Given the description of an element on the screen output the (x, y) to click on. 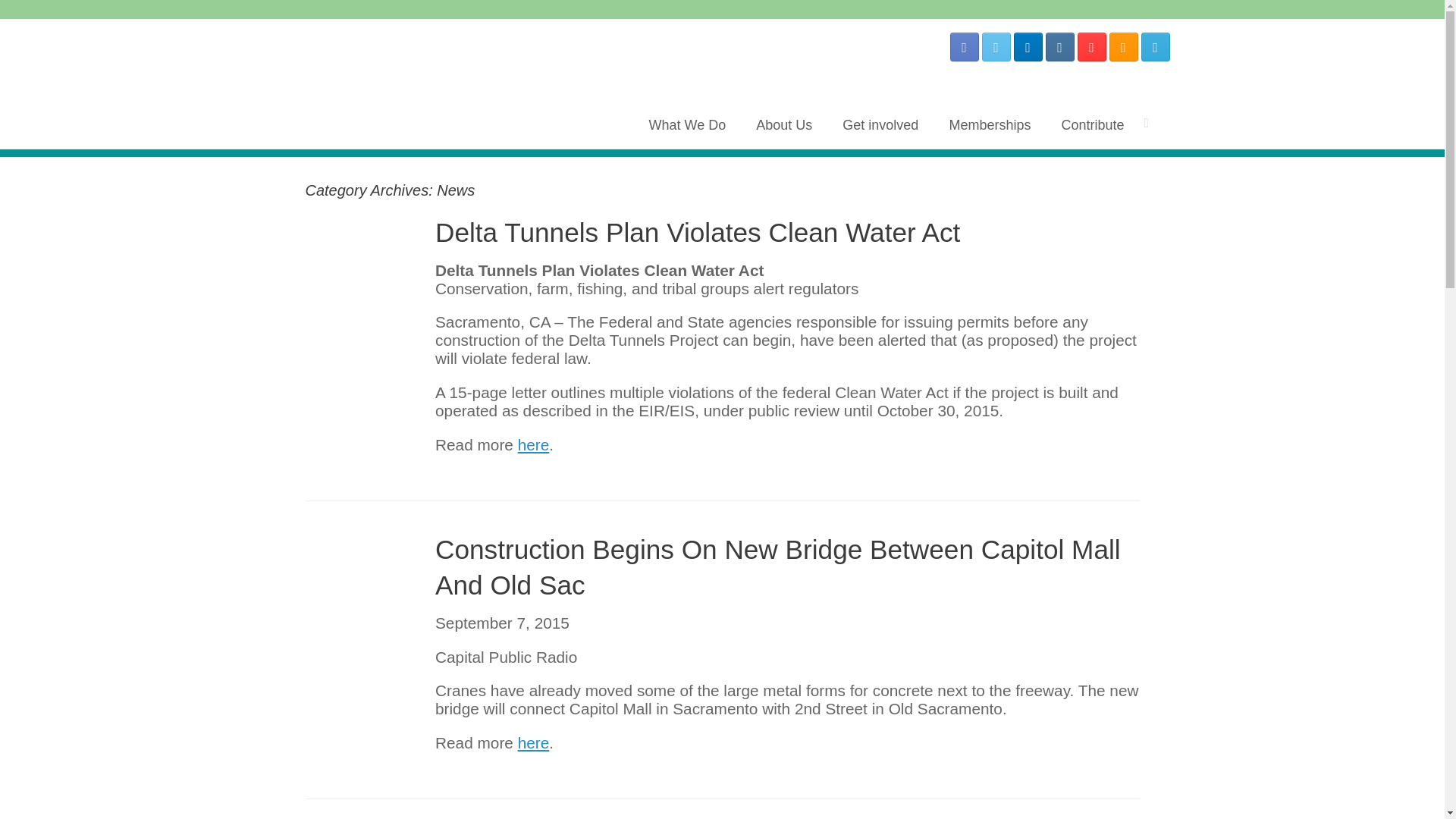
ECOS Email (1154, 46)
About Us (784, 125)
ECOS Twitter (995, 46)
ECOS YouTube (1091, 46)
ECOS RSS (1122, 46)
ECOS Facebook (963, 46)
Contribute (1091, 125)
Permalink to Delta Tunnels Plan Violates Clean Water Act (697, 232)
Get involved (880, 125)
ECOS Instagram (1059, 46)
Delta Tunnels Plan Violates Clean Water Act (697, 232)
ECOS LinkedIn (1027, 46)
What We Do (687, 125)
Memberships (989, 125)
